Given the description of an element on the screen output the (x, y) to click on. 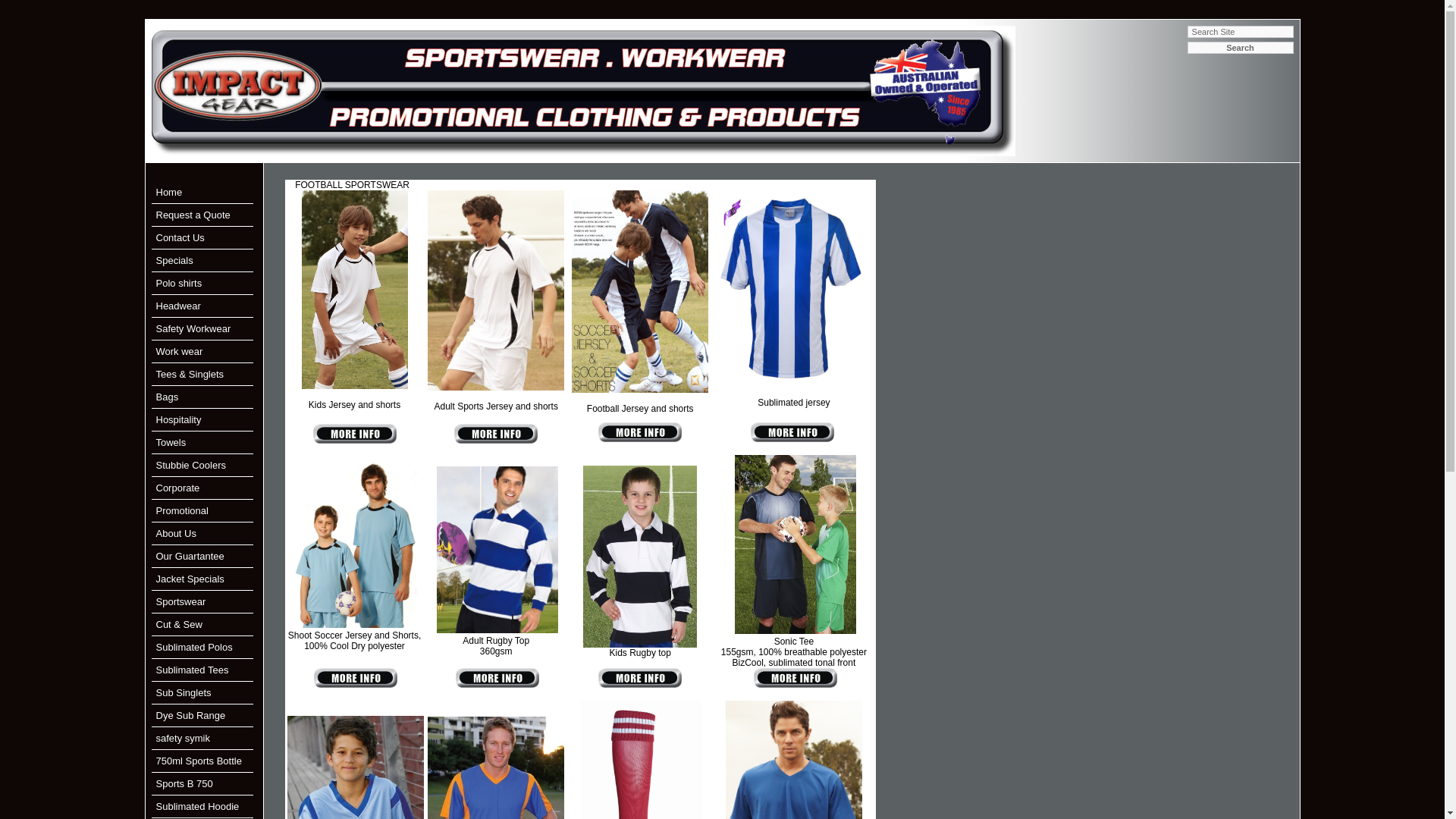
Towels Element type: text (171, 442)
safety symik Element type: text (183, 737)
Stubbie Coolers Element type: text (191, 464)
Jacket Specials Element type: text (190, 578)
Sportswear Element type: text (181, 601)
Promotional Element type: text (182, 510)
Sublimated Tees Element type: text (192, 669)
Home Element type: text (169, 191)
Sublimated Polos Element type: text (194, 646)
Sports B 750 Element type: text (184, 783)
Tees & Singlets Element type: text (190, 373)
Corporate Element type: text (178, 487)
Our Guartantee Element type: text (190, 555)
Dye Sub Range Element type: text (190, 715)
Cut & Sew Element type: text (179, 624)
Headwear Element type: text (178, 305)
Contact Us Element type: text (180, 237)
Sublimated Hoodie Element type: text (197, 806)
750ml Sports Bottle Element type: text (198, 760)
Search Element type: text (1240, 47)
About Us Element type: text (176, 533)
Hospitality Element type: text (178, 419)
Bags Element type: text (167, 396)
Safety Workwear Element type: text (193, 328)
Polo shirts Element type: text (179, 282)
Request a Quote Element type: text (193, 214)
Work wear Element type: text (179, 351)
Sub Singlets Element type: text (183, 692)
Specials Element type: text (174, 260)
